Given the description of an element on the screen output the (x, y) to click on. 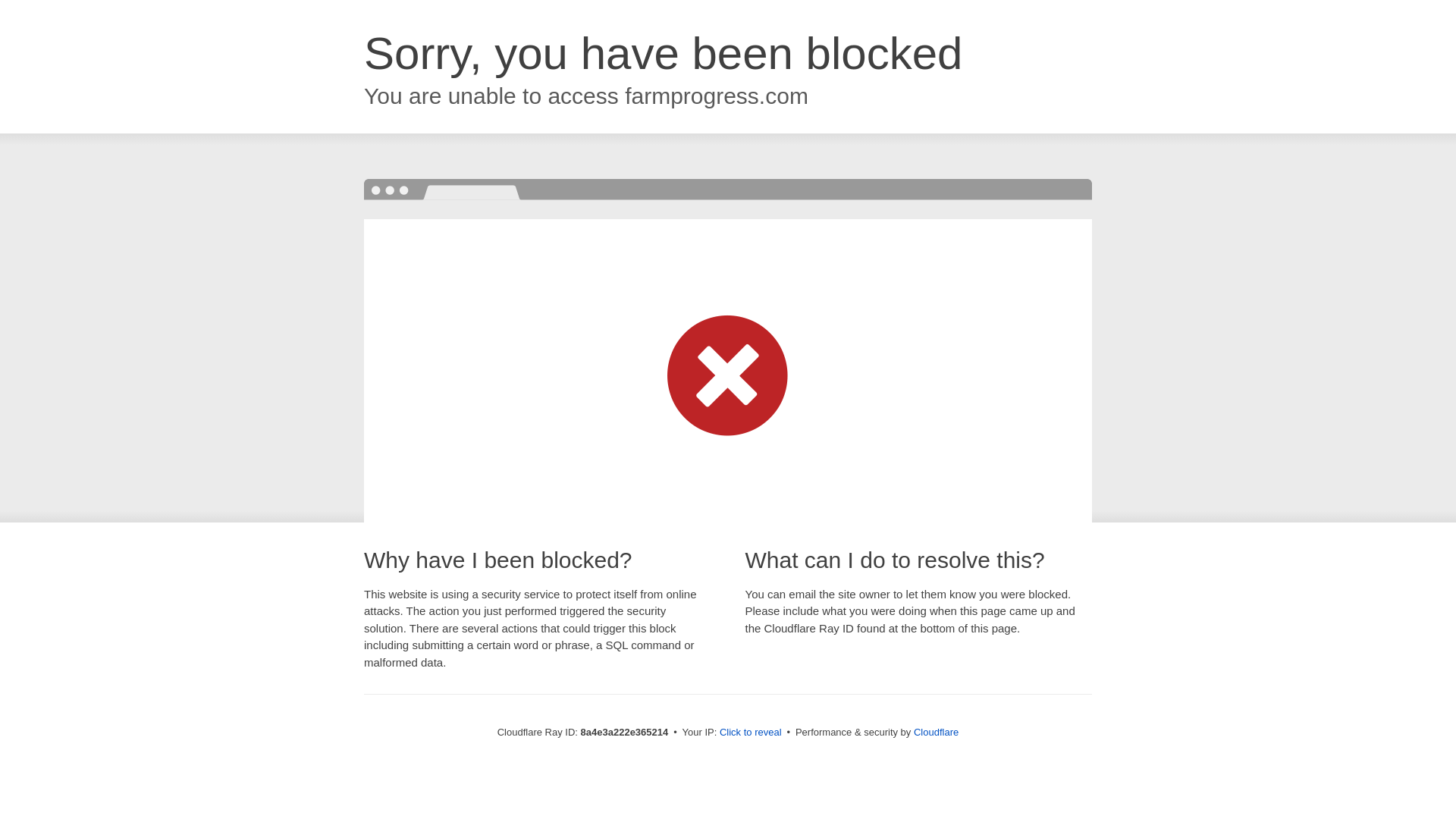
Cloudflare (936, 731)
Click to reveal (750, 732)
